Given the description of an element on the screen output the (x, y) to click on. 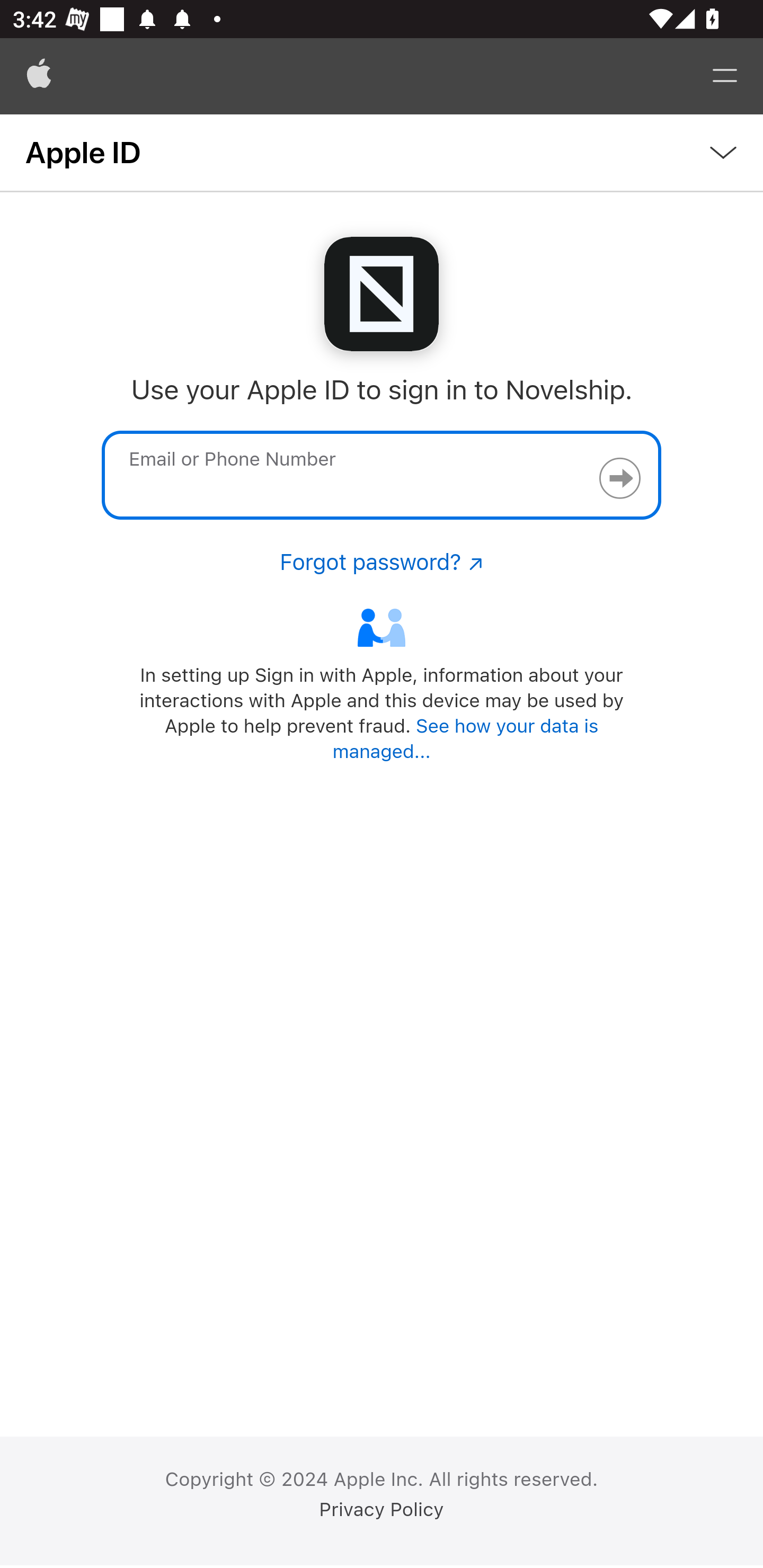
Apple (38, 75)
Menu (724, 75)
Continue (618, 477)
Privacy Policy (381, 1509)
